Given the description of an element on the screen output the (x, y) to click on. 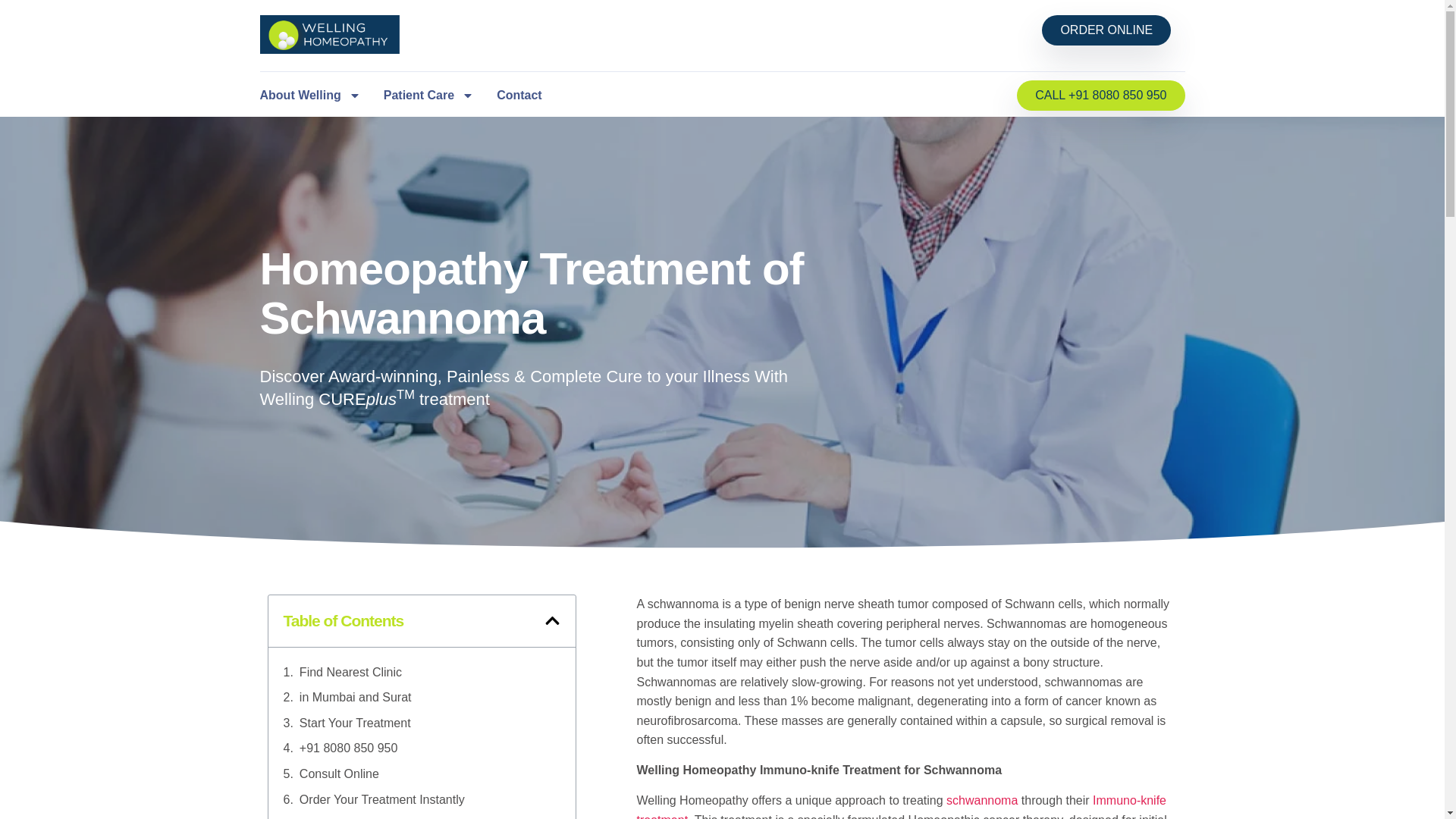
Contact (518, 95)
About Welling (309, 95)
Patient Care (429, 95)
ORDER ONLINE (1106, 30)
